Given the description of an element on the screen output the (x, y) to click on. 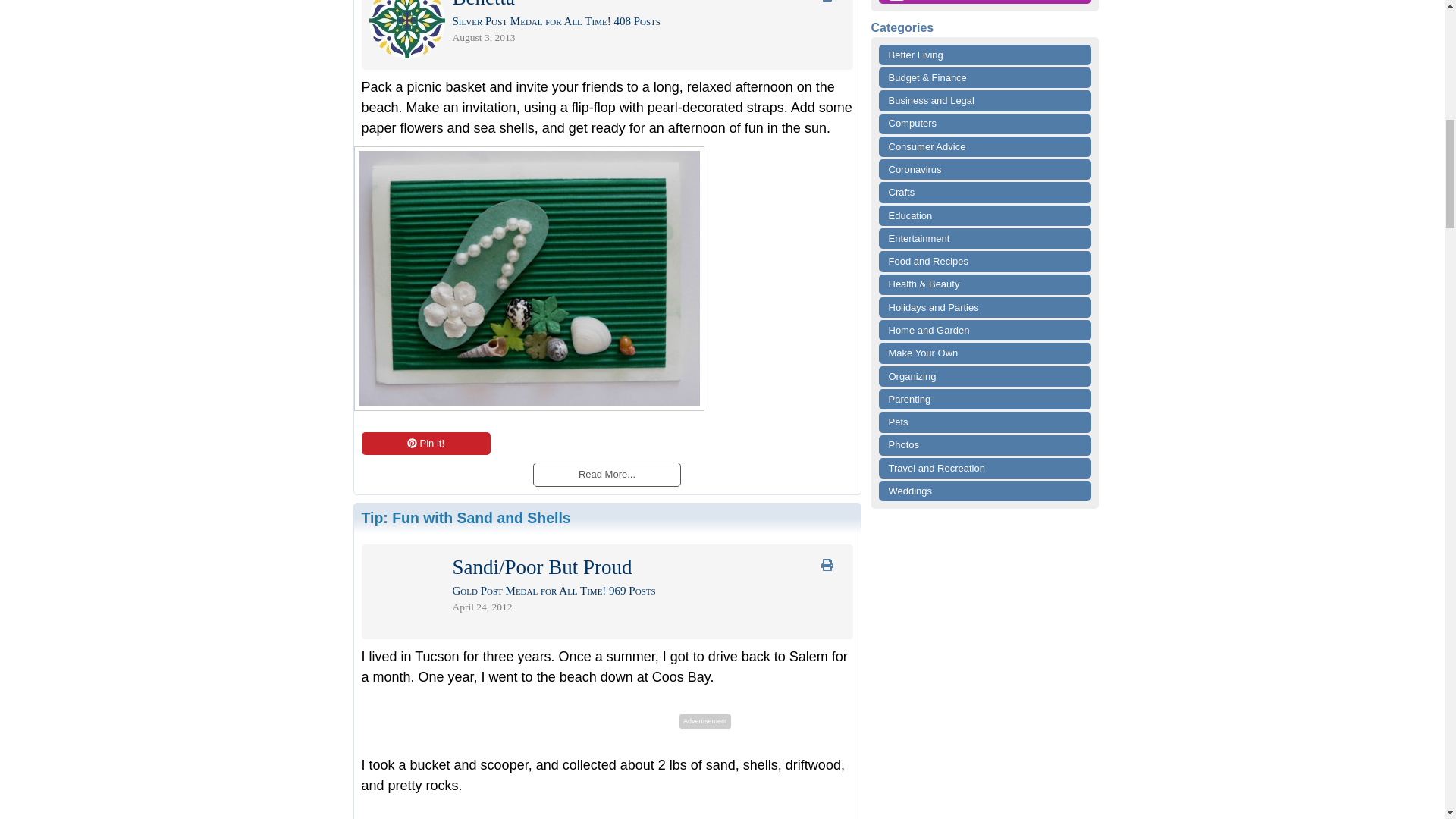
 Pin it! (425, 443)
Tip: Fun with Sand and Shells (465, 517)
Read More... (605, 473)
Benetta (482, 3)
